Given the description of an element on the screen output the (x, y) to click on. 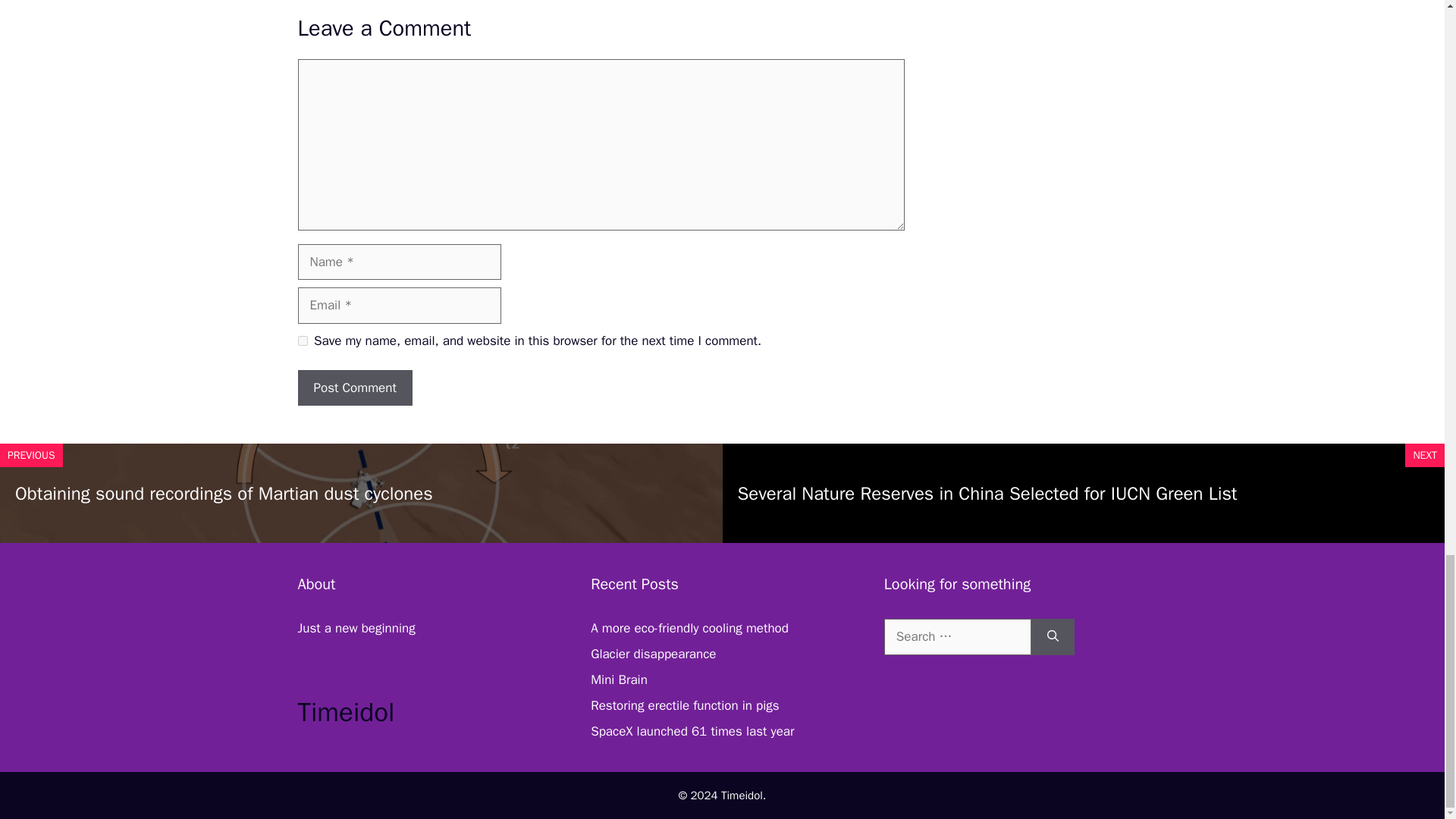
Obtaining sound recordings of Martian dust cyclones (223, 493)
Search for: (956, 637)
Post Comment (354, 388)
Glacier disappearance (653, 653)
A more eco-friendly cooling method (690, 627)
yes (302, 340)
Restoring erectile function in pigs (684, 705)
SpaceX launched 61 times last year (692, 731)
Mini Brain (619, 679)
